Given the description of an element on the screen output the (x, y) to click on. 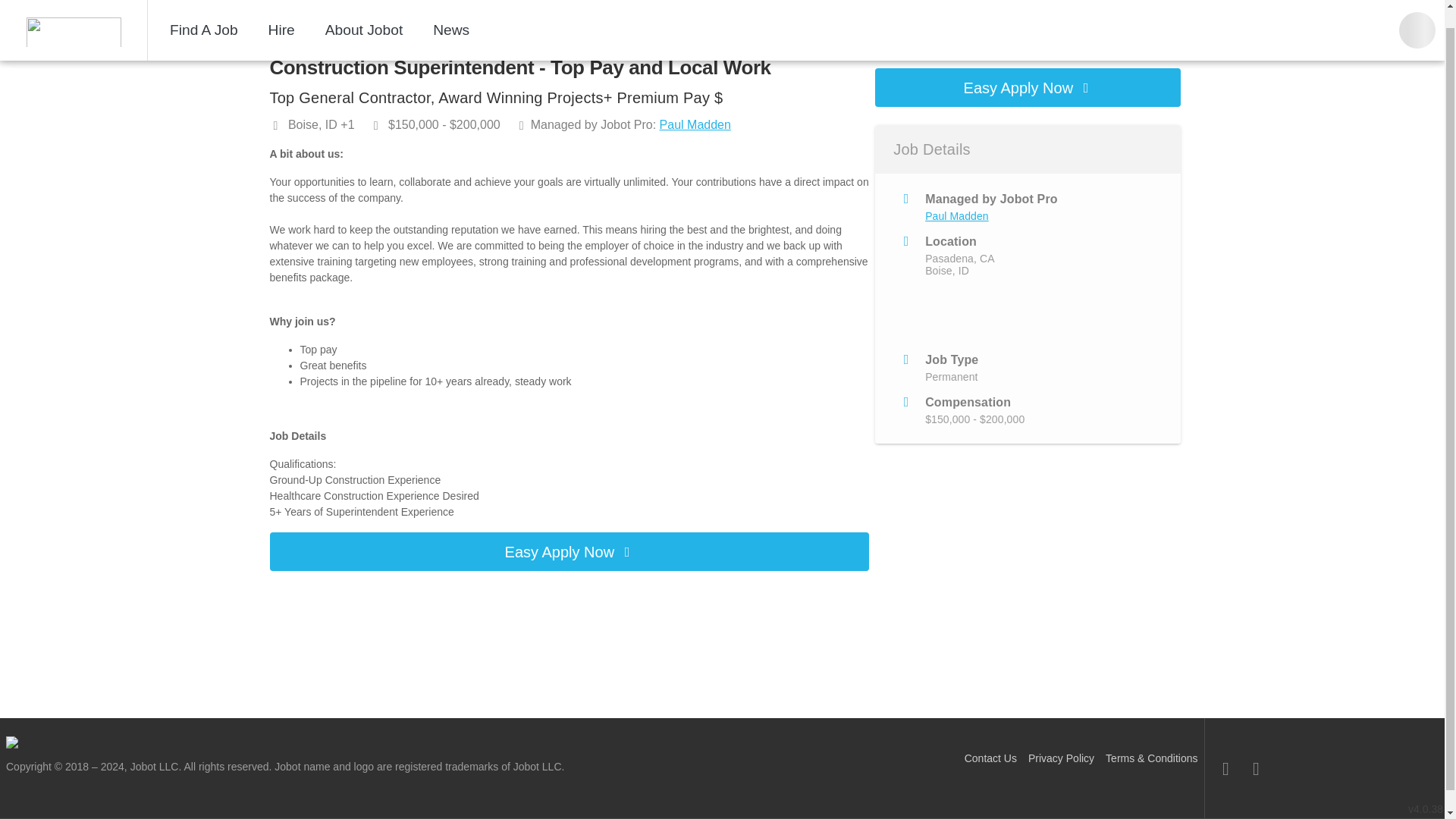
Privacy Policy (1060, 758)
Easy Apply Now (569, 551)
Contact Us (989, 758)
Hire (281, 15)
Find A Job (203, 15)
Paul Madden (956, 215)
Easy Apply Now (1027, 87)
Paul Madden (694, 124)
News (450, 15)
About Jobot (363, 15)
